Given the description of an element on the screen output the (x, y) to click on. 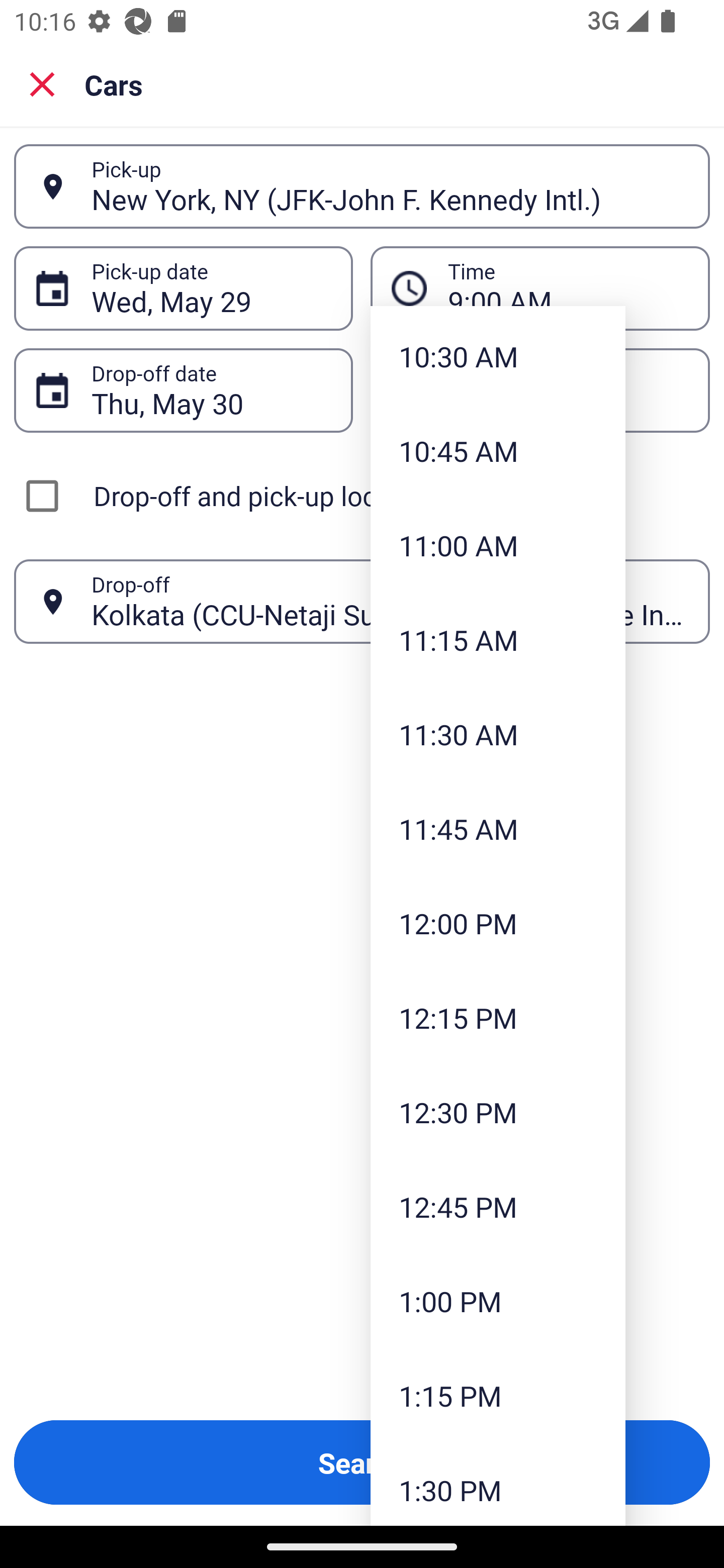
10:30 AM (497, 355)
10:45 AM (497, 450)
11:00 AM (497, 545)
11:15 AM (497, 639)
11:30 AM (497, 733)
11:45 AM (497, 828)
12:00 PM (497, 923)
12:15 PM (497, 1017)
12:30 PM (497, 1111)
12:45 PM (497, 1206)
1:00 PM (497, 1301)
1:15 PM (497, 1395)
1:30 PM (497, 1483)
